Given the description of an element on the screen output the (x, y) to click on. 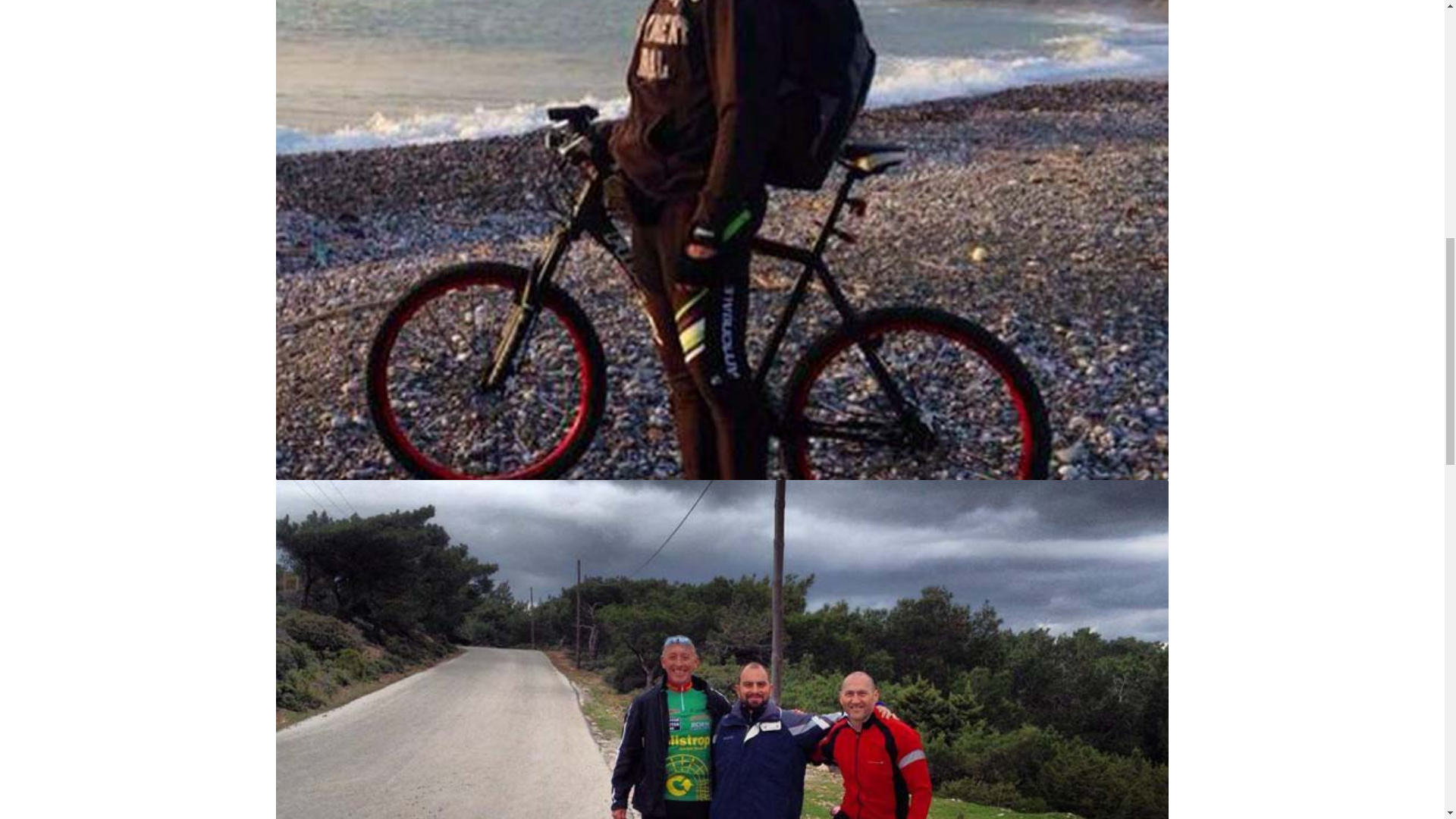
biking-3 (721, 144)
biking-2 (721, 813)
